Given the description of an element on the screen output the (x, y) to click on. 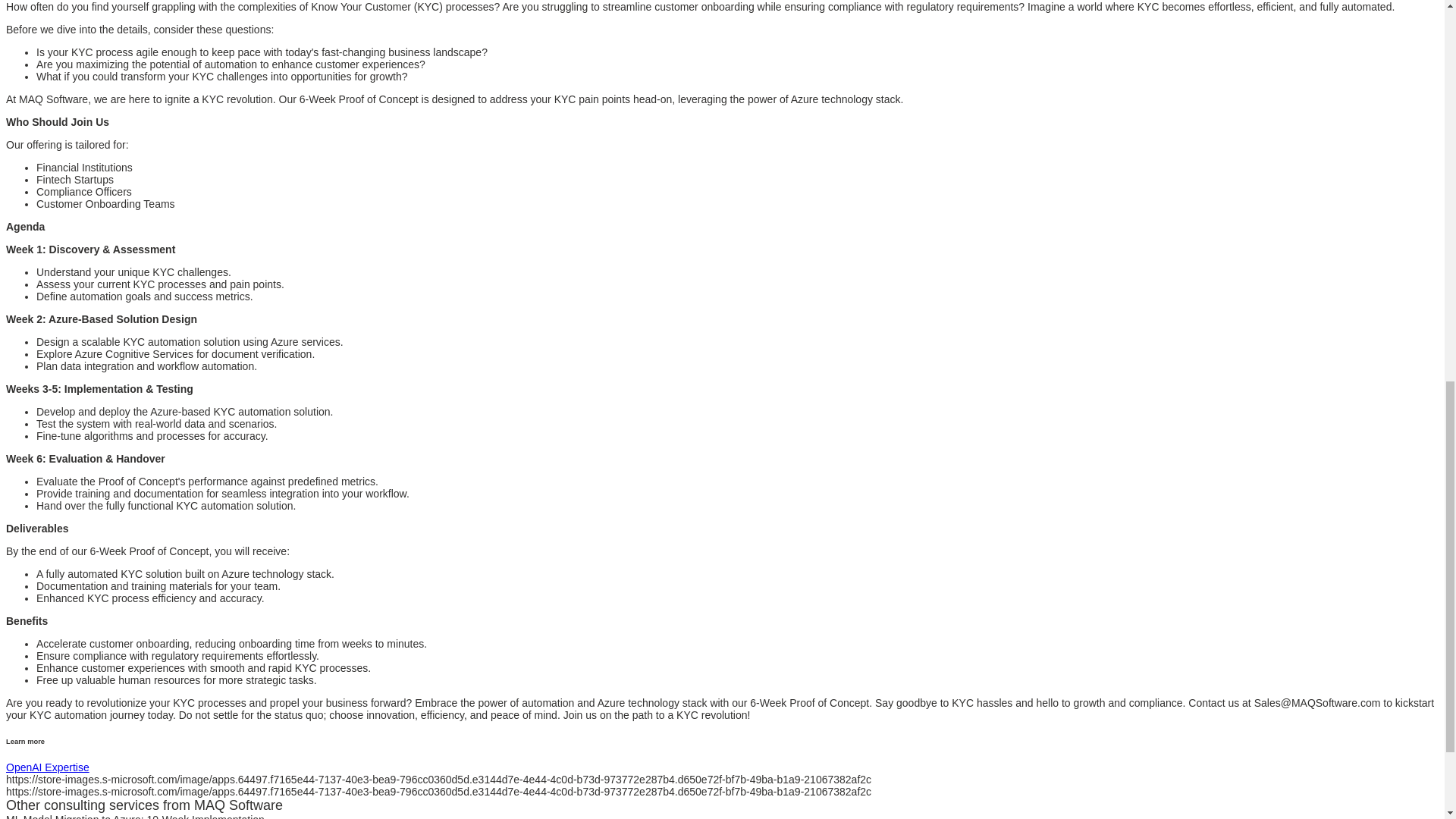
ML Model Migration to Azure: 10-Week Implementation (134, 816)
